Given the description of an element on the screen output the (x, y) to click on. 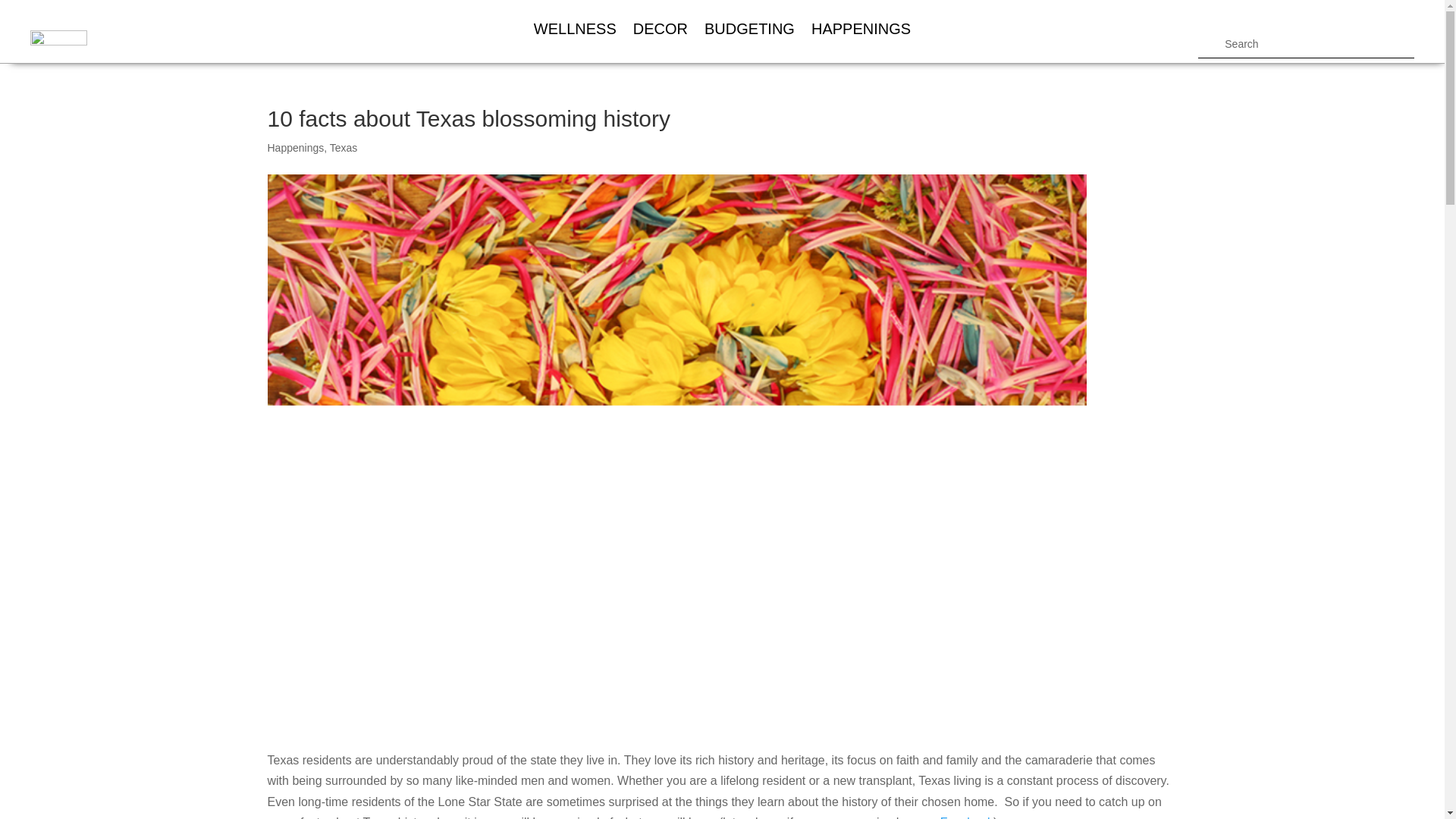
WELLNESS (574, 28)
Facebook (966, 817)
Search (24, 13)
Texas (344, 147)
Happenings (294, 147)
HAPPENINGS (860, 28)
DECOR (660, 28)
BUDGETING (749, 28)
heb (58, 46)
